Given the description of an element on the screen output the (x, y) to click on. 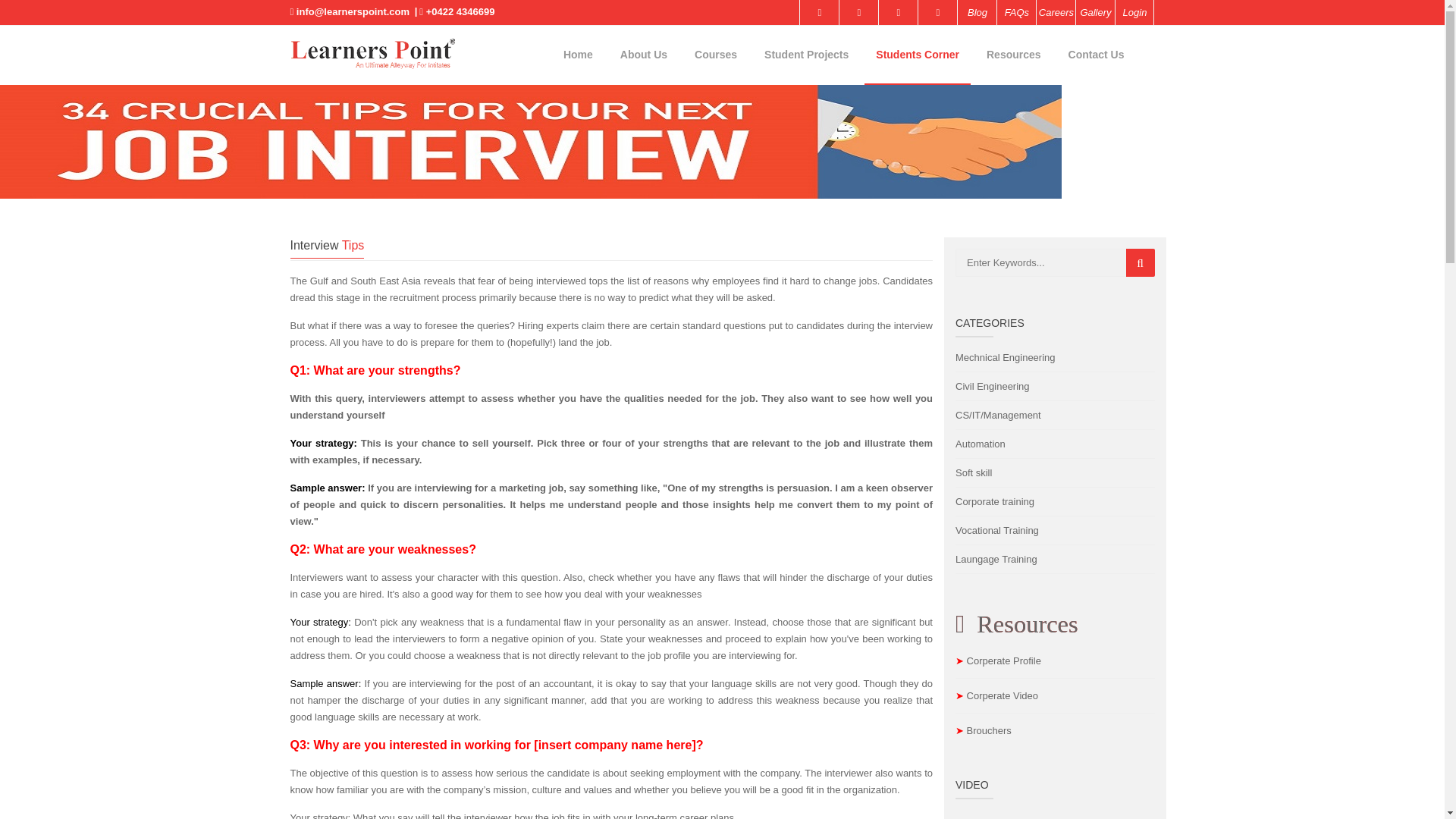
FAQs (1015, 12)
Blog (975, 12)
Login (1134, 12)
Gallery (1095, 12)
Careers (1055, 12)
